Given the description of an element on the screen output the (x, y) to click on. 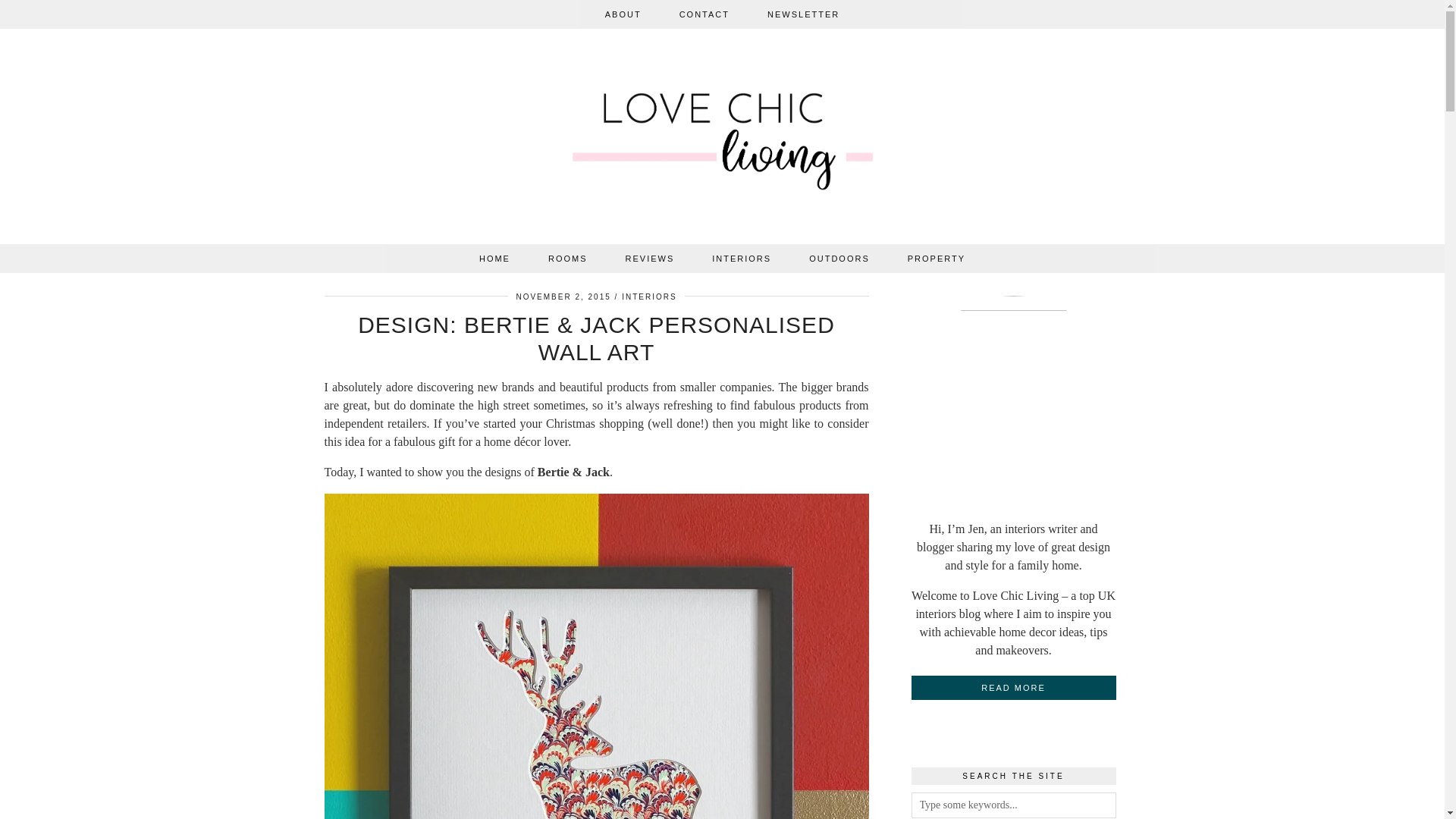
INTERIORS (741, 258)
ABOUT (623, 14)
ROOMS (568, 258)
Love Chic Living (722, 139)
CONTACT (704, 14)
NEWSLETTER (803, 14)
REVIEWS (650, 258)
HOME (494, 258)
